Given the description of an element on the screen output the (x, y) to click on. 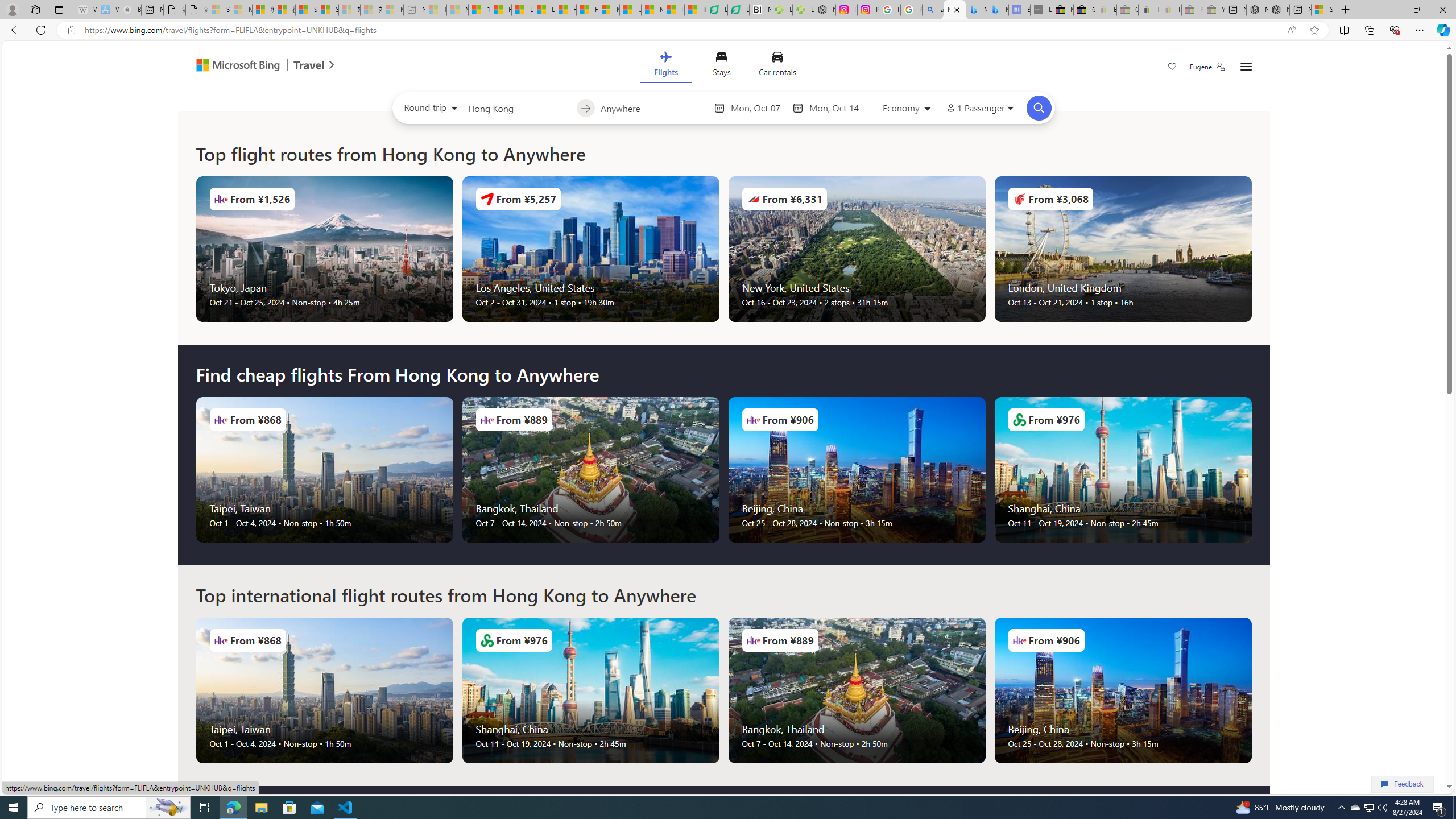
Save (1171, 67)
Start Date (758, 107)
Microsoft Bing Travel - Shangri-La Hotel Bangkok (997, 9)
